Given the description of an element on the screen output the (x, y) to click on. 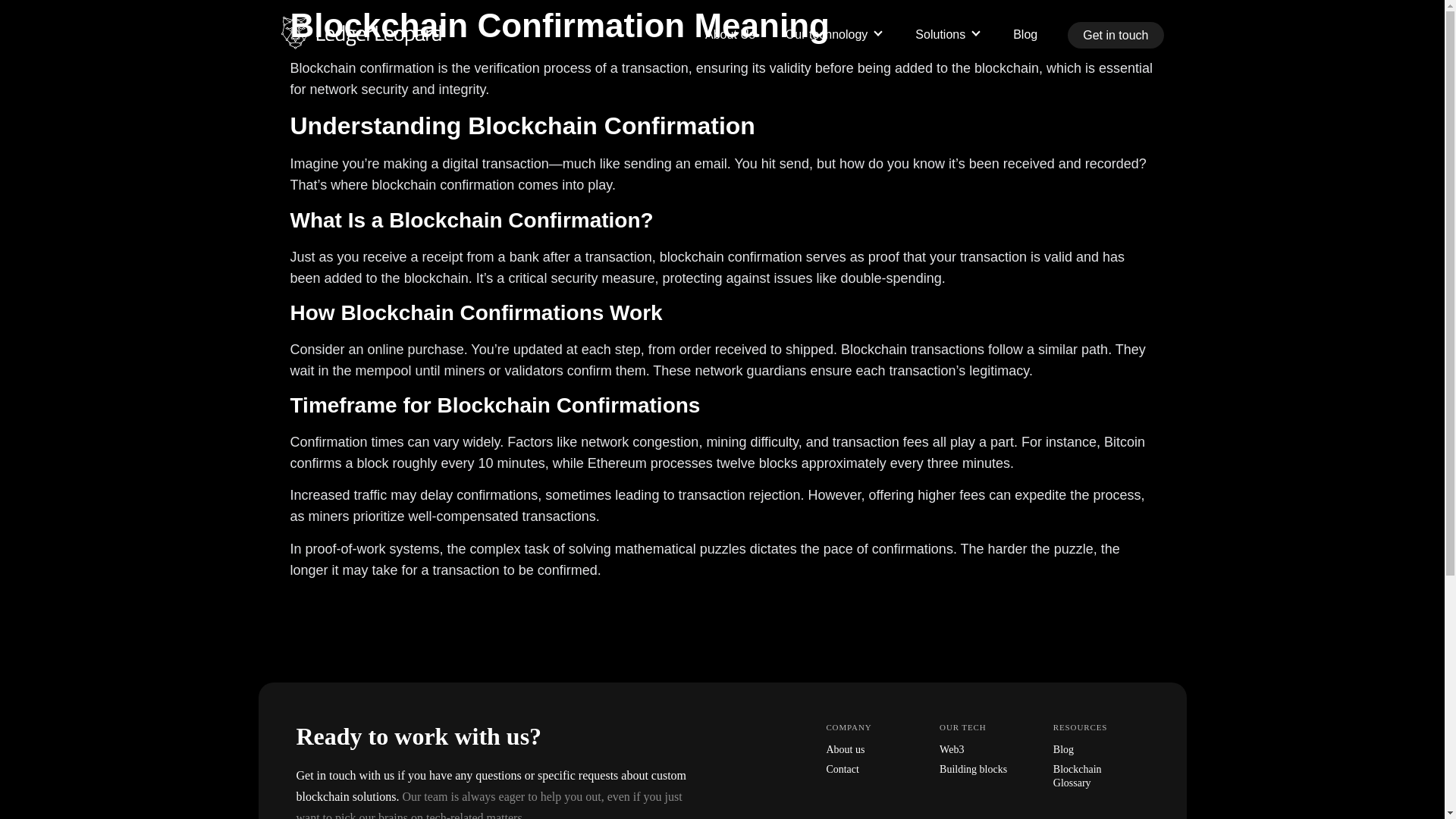
Our technology (835, 34)
Solutions (948, 34)
About Us (729, 34)
Blog (1024, 34)
Get in touch (1115, 35)
